Given the description of an element on the screen output the (x, y) to click on. 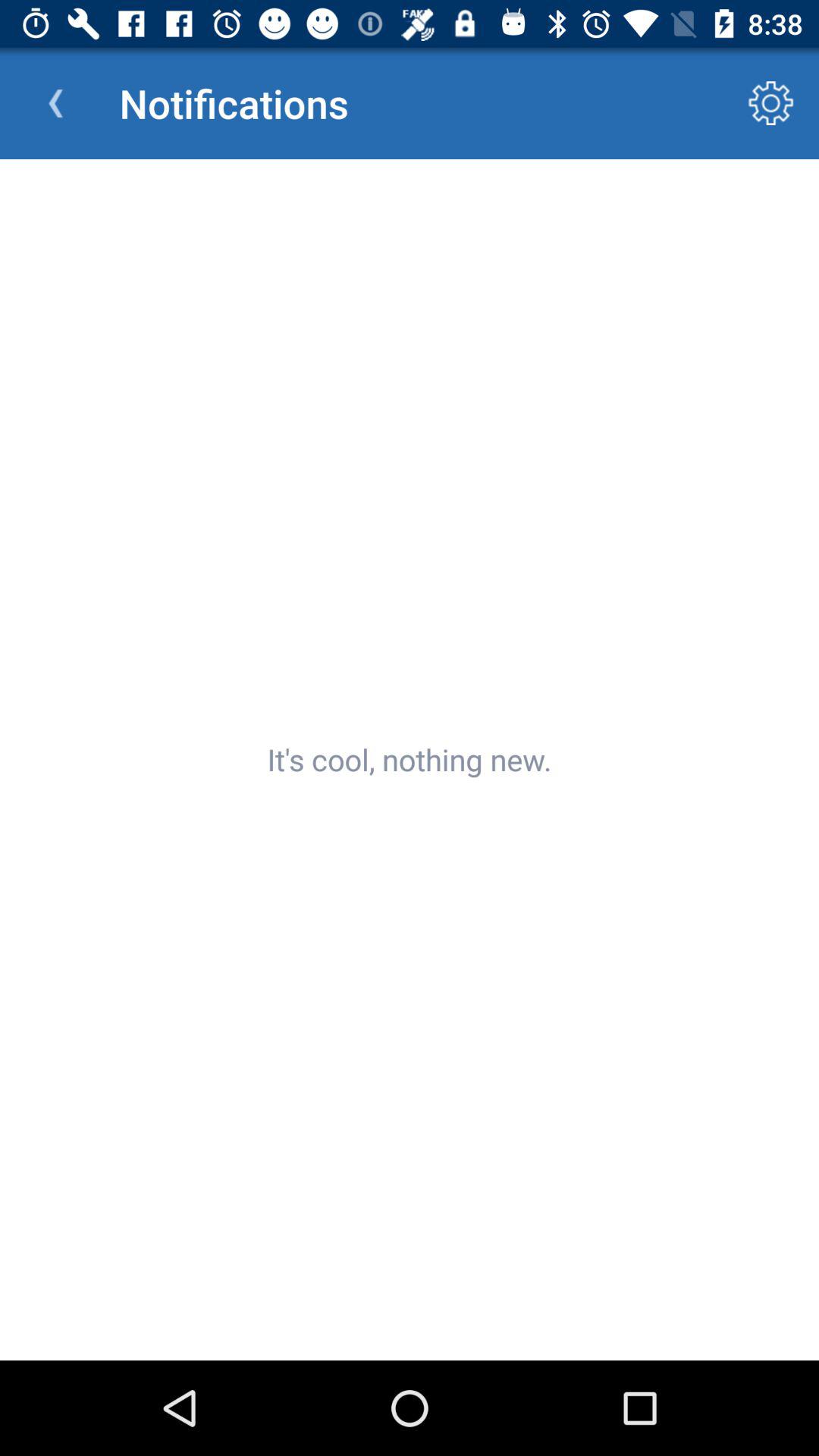
tap icon above the it s cool icon (771, 103)
